Given the description of an element on the screen output the (x, y) to click on. 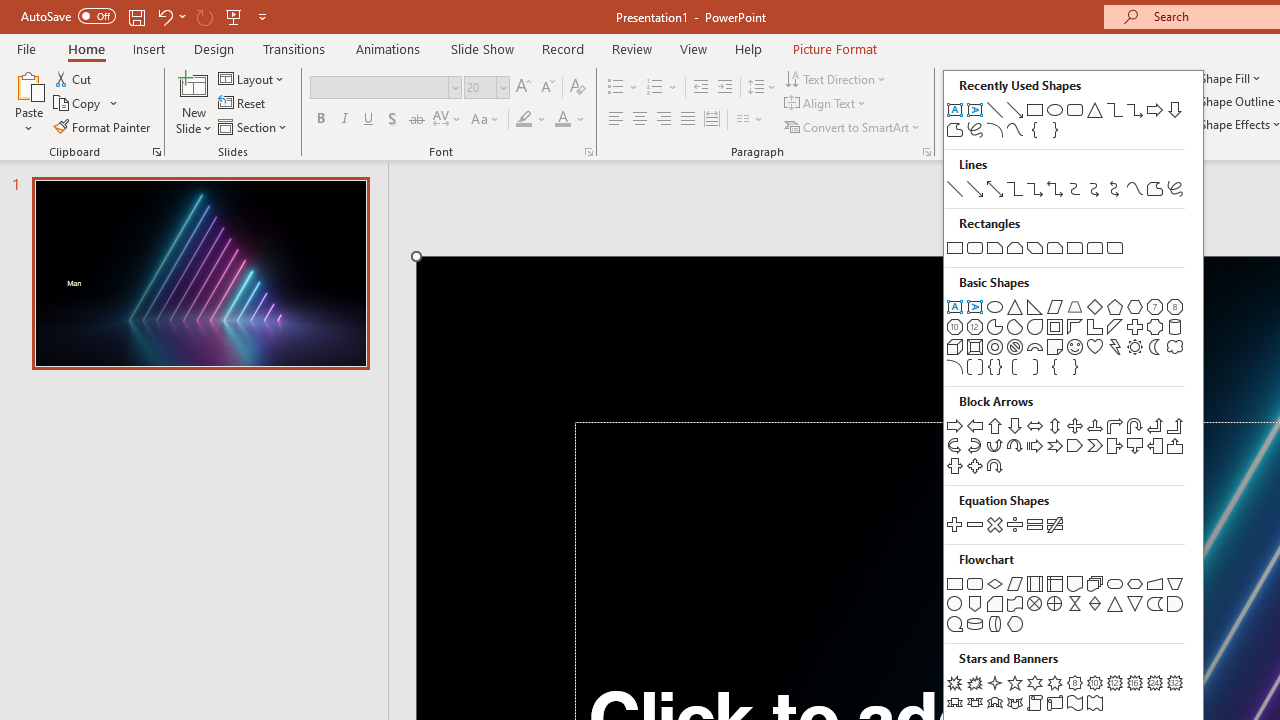
Review (631, 48)
New Slide (193, 102)
Character Spacing (447, 119)
Shadow (392, 119)
Paragraph... (926, 151)
File Tab (26, 48)
Cut (73, 78)
More Options (672, 87)
Save (136, 15)
Align Left (616, 119)
Convert to SmartArt (853, 126)
Open (502, 87)
System (10, 11)
Reset (243, 103)
Italic (344, 119)
